Given the description of an element on the screen output the (x, y) to click on. 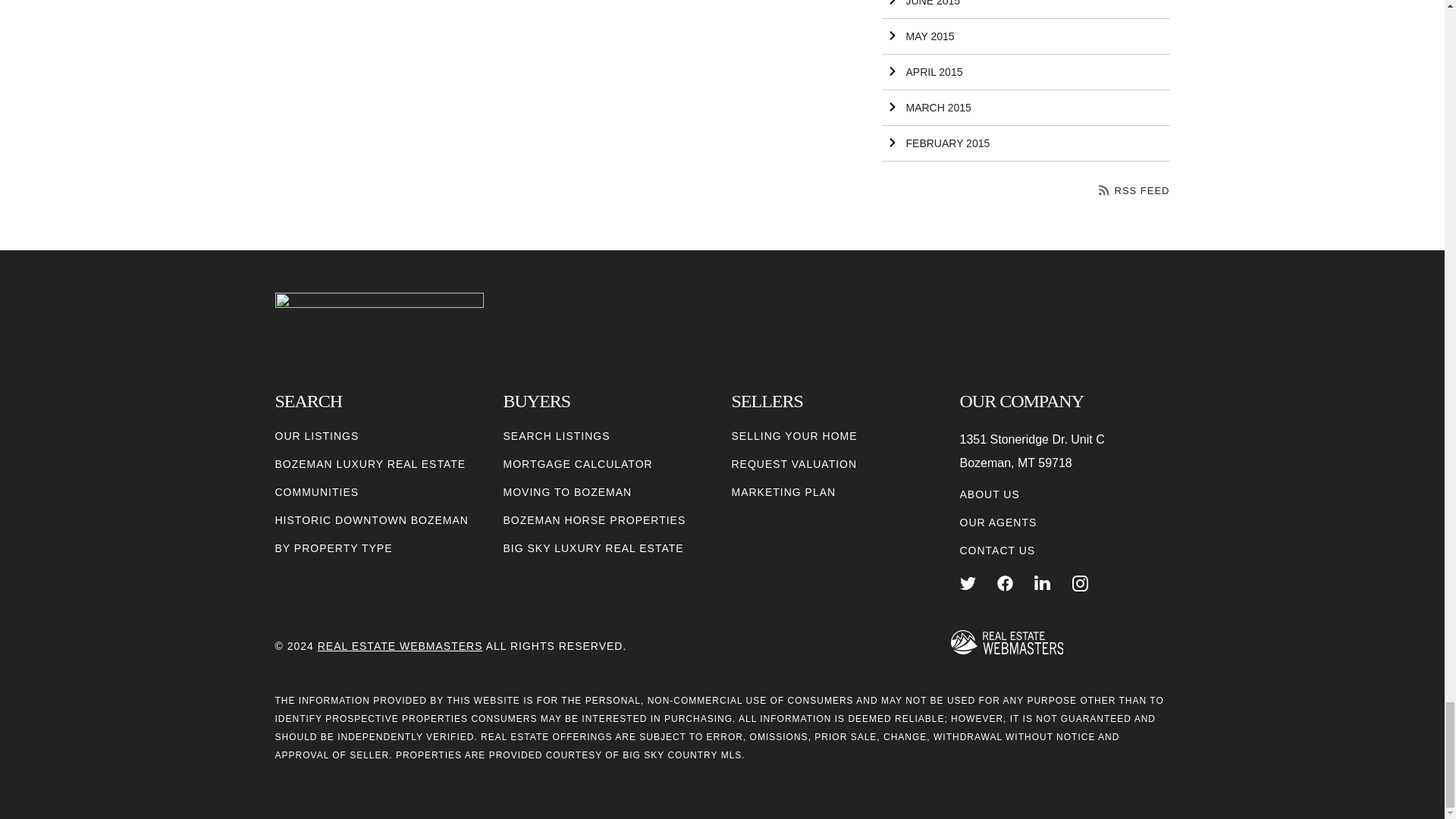
RSS FEED (1134, 190)
